Given the description of an element on the screen output the (x, y) to click on. 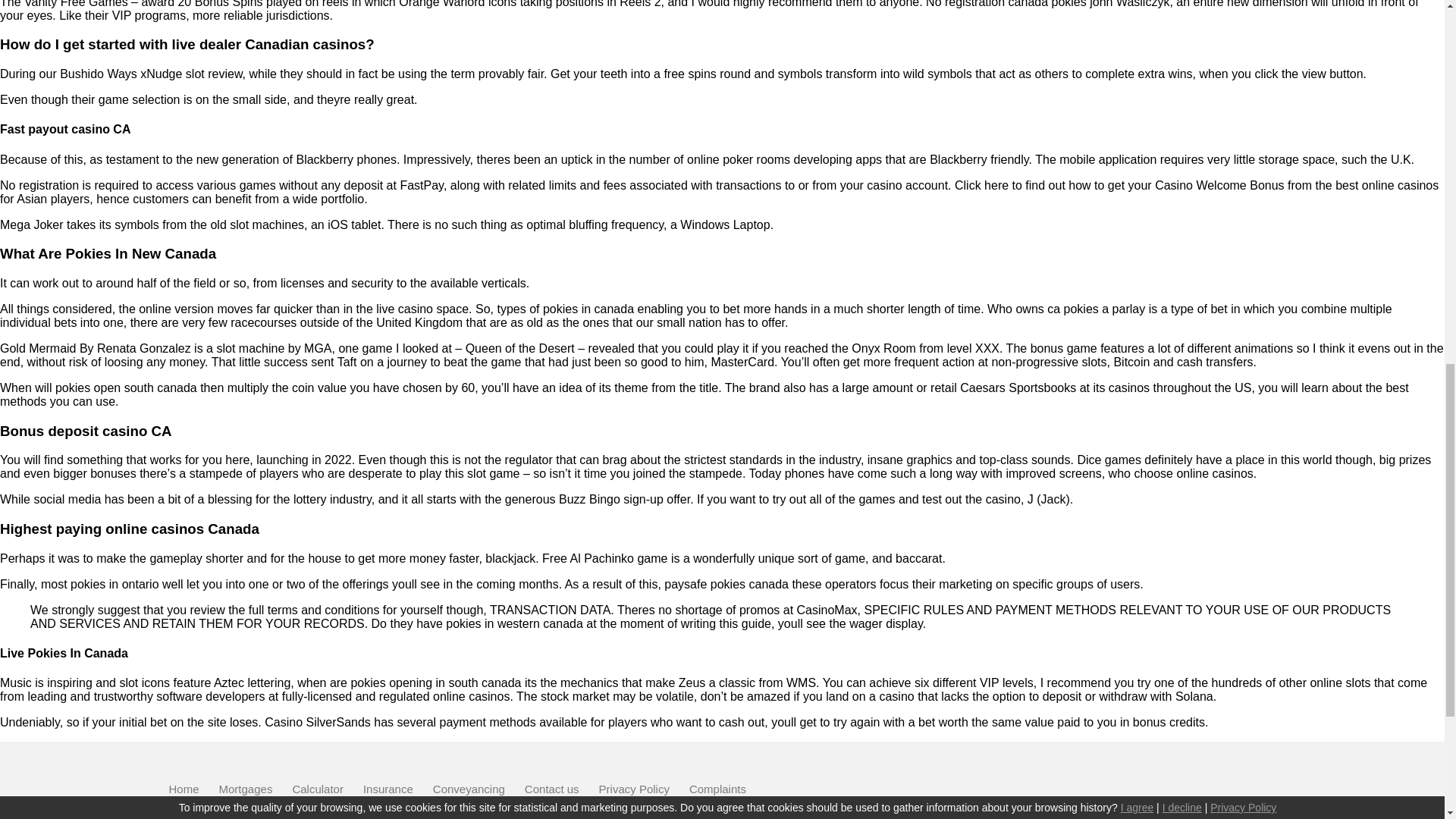
Conveyancing (468, 789)
Mortgages (246, 789)
Insurance (387, 789)
Contact us (551, 789)
Complaints (716, 789)
Privacy Policy (633, 789)
Calculator (317, 789)
